Given the description of an element on the screen output the (x, y) to click on. 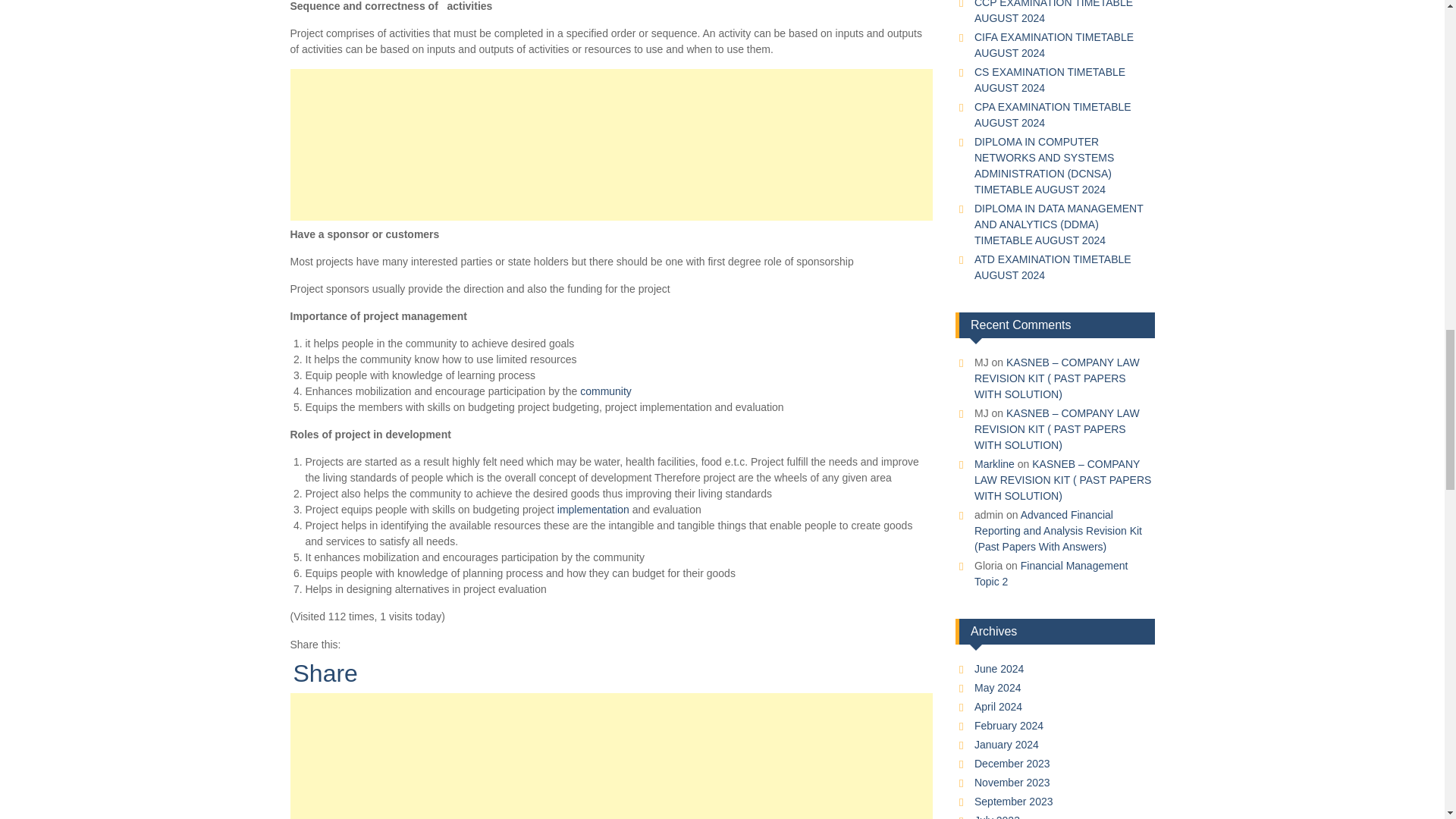
community (605, 390)
implementation (592, 509)
Share (324, 673)
